Given the description of an element on the screen output the (x, y) to click on. 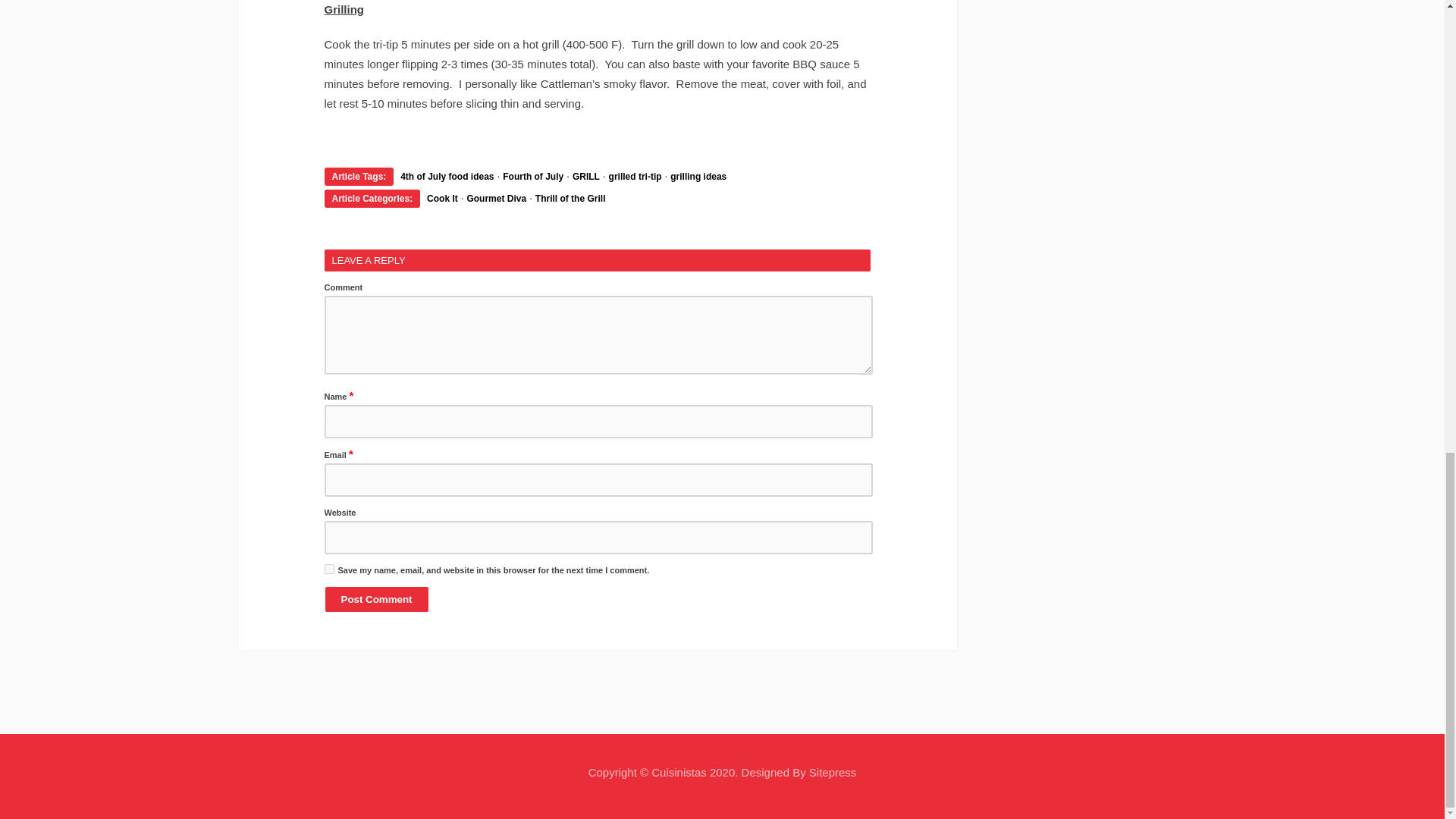
yes (329, 569)
Post Comment (376, 599)
grilled tri-tip (635, 176)
Gourmet Diva (495, 198)
4th of July food ideas (446, 176)
grilling ideas (697, 176)
GRILL (585, 176)
Fourth of July (532, 176)
Post Comment (376, 599)
Cook It (442, 198)
Thrill of the Grill (570, 198)
